Given the description of an element on the screen output the (x, y) to click on. 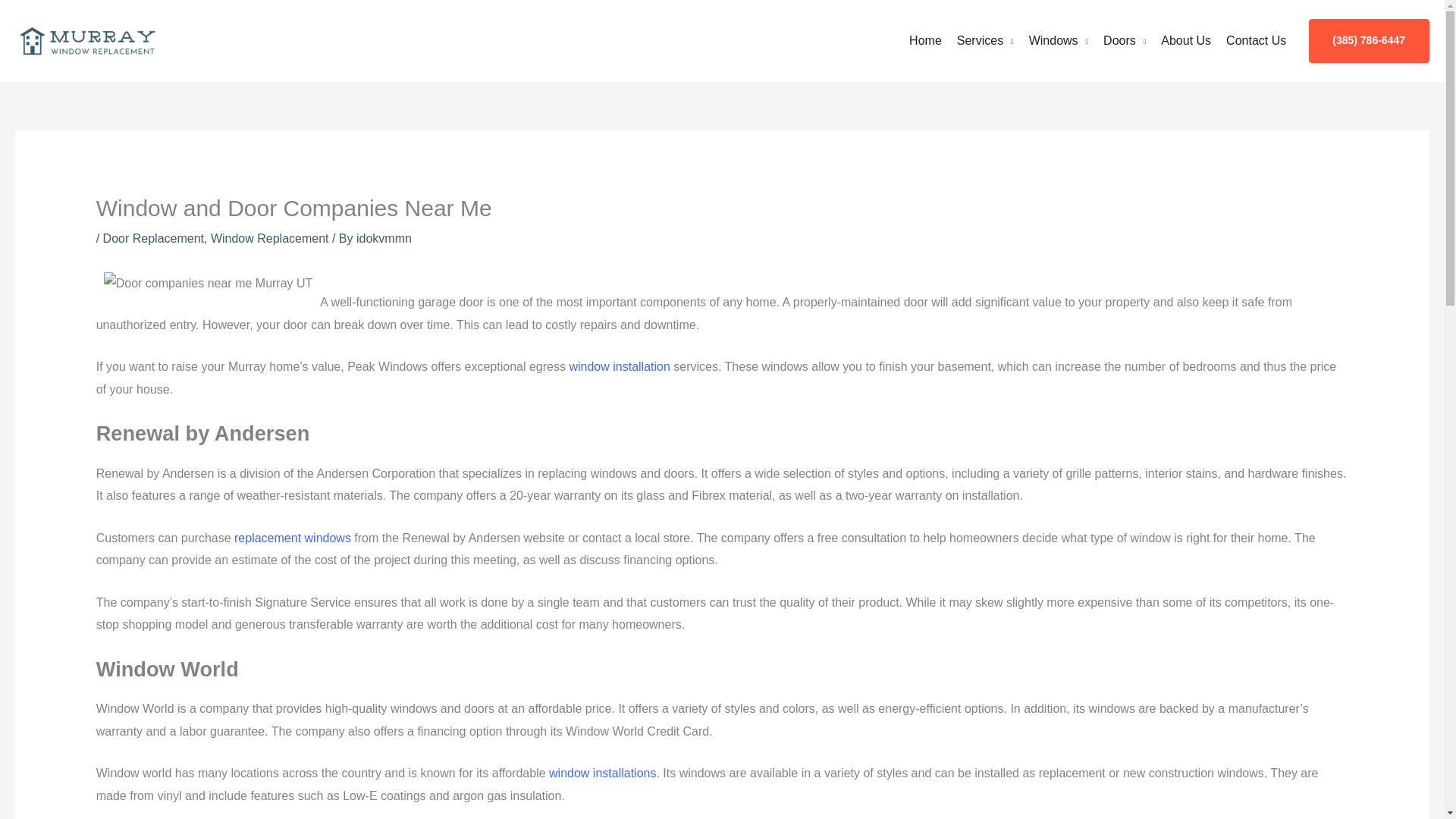
Windows (1059, 40)
About Us (1185, 40)
Home (925, 40)
Services (985, 40)
View all posts by idokvmmn (384, 237)
Doors (1124, 40)
Contact Us (1256, 40)
